Given the description of an element on the screen output the (x, y) to click on. 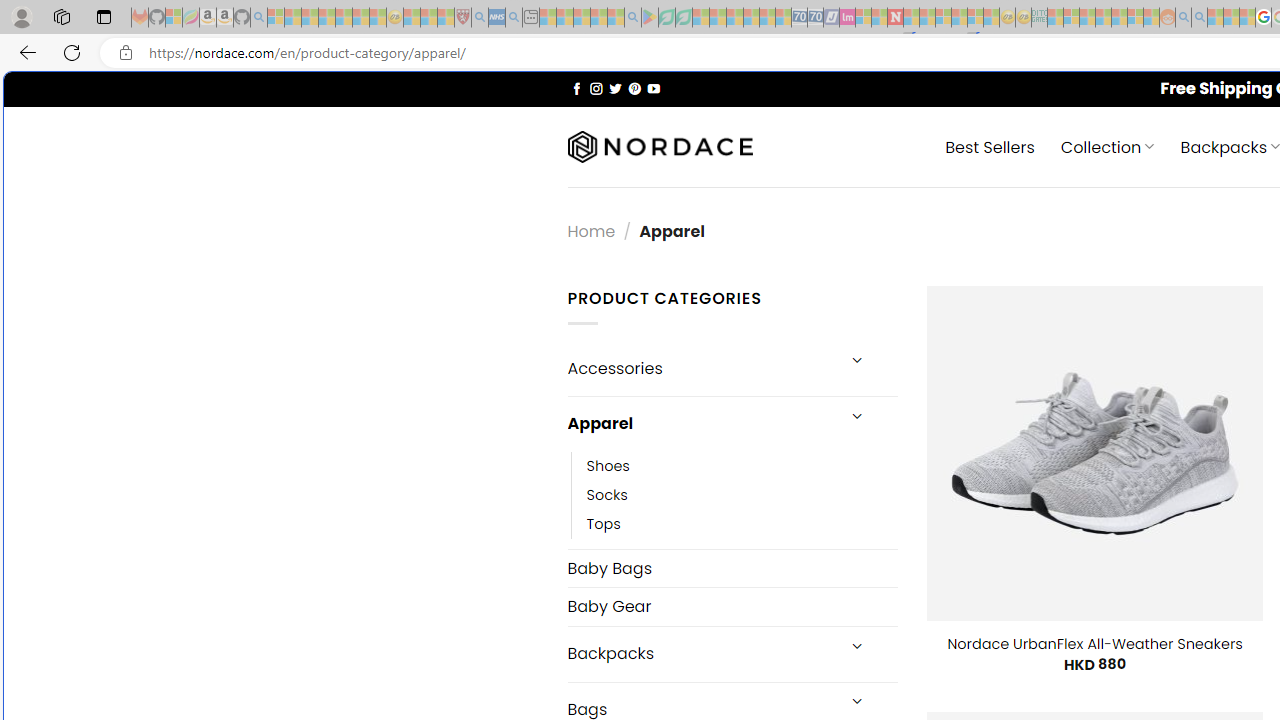
google - Search - Sleeping (632, 17)
MSNBC - MSN - Sleeping (1055, 17)
Baby Bags (732, 567)
Socks (607, 494)
Expert Portfolios - Sleeping (1103, 17)
Local - MSN - Sleeping (445, 17)
